Given the description of an element on the screen output the (x, y) to click on. 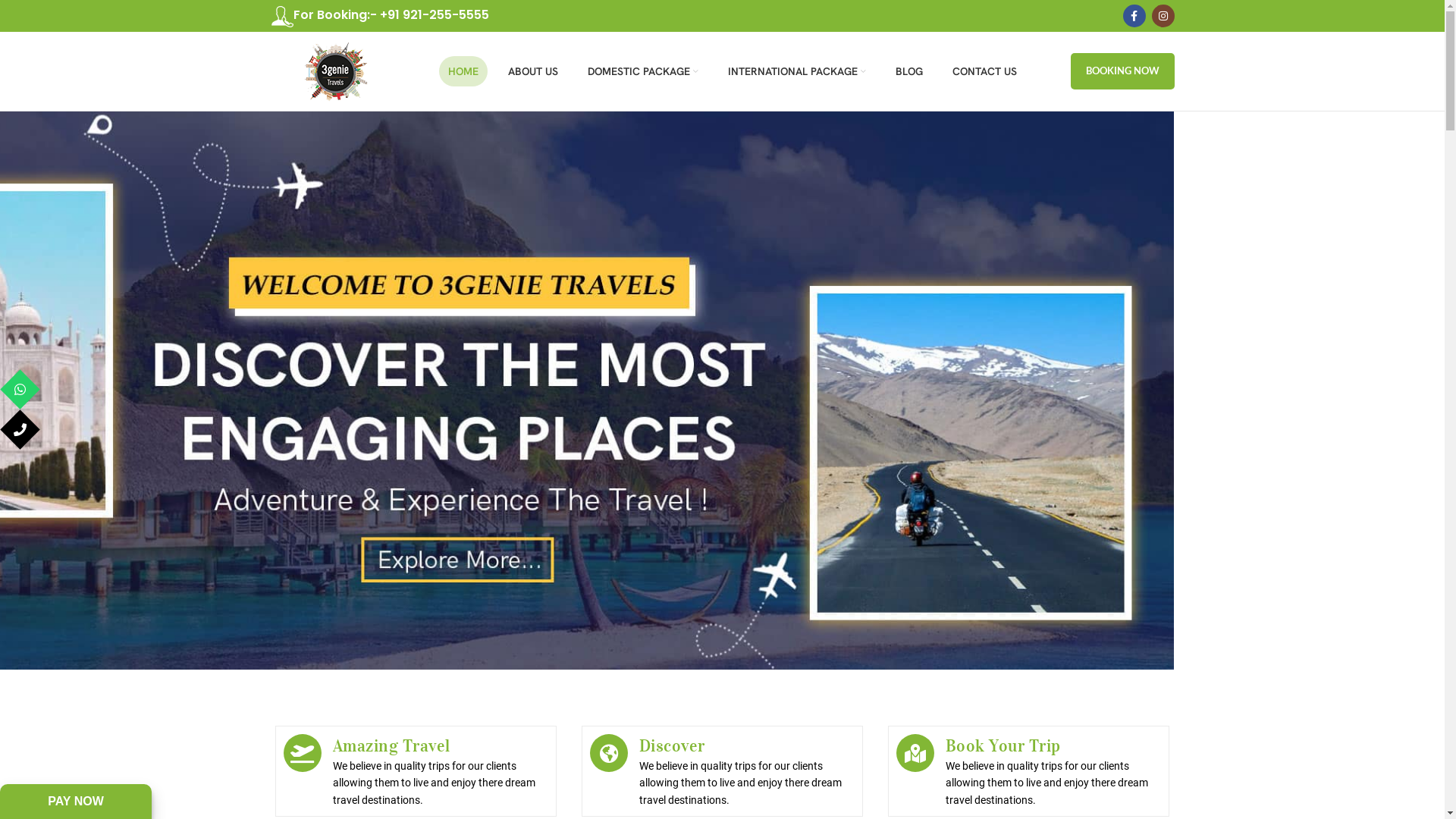
INTERNATIONAL PACKAGE Element type: text (796, 71)
ABOUT US Element type: text (532, 71)
WhatsApp Element type: text (92, 389)
BOOKING NOW Element type: text (1122, 71)
Phone Element type: text (92, 429)
DOMESTIC PACKAGE Element type: text (642, 71)
BLOG Element type: text (908, 71)
CONTACT US Element type: text (984, 71)
HOME Element type: text (463, 71)
